Given the description of an element on the screen output the (x, y) to click on. 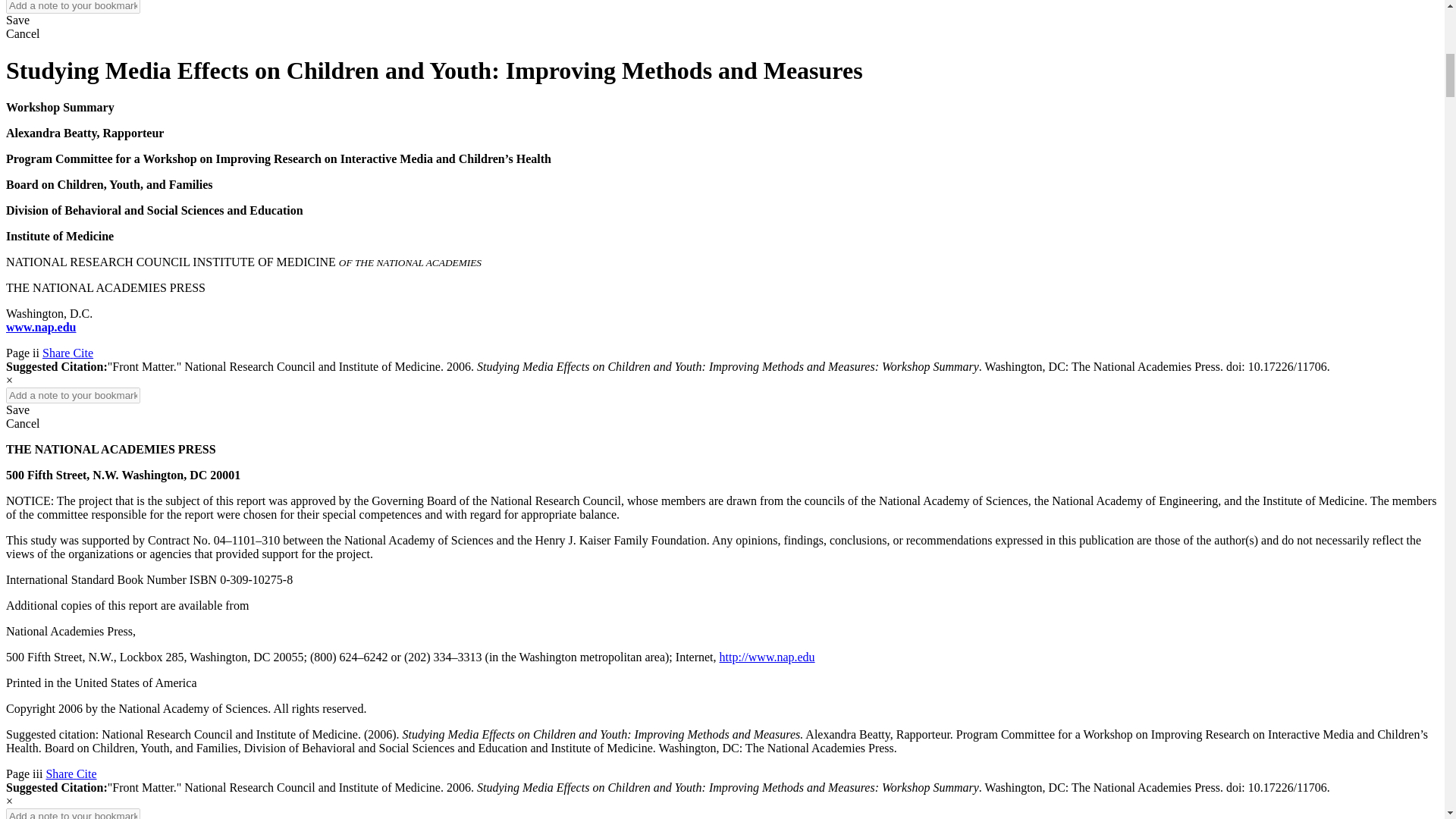
Share this page (57, 352)
Save (17, 409)
Cite (87, 773)
Save (17, 19)
Cite this page (87, 773)
www.nap.edu (40, 327)
Cite this page (82, 352)
Share (57, 352)
Cite (82, 352)
Cancel (22, 422)
